Given the description of an element on the screen output the (x, y) to click on. 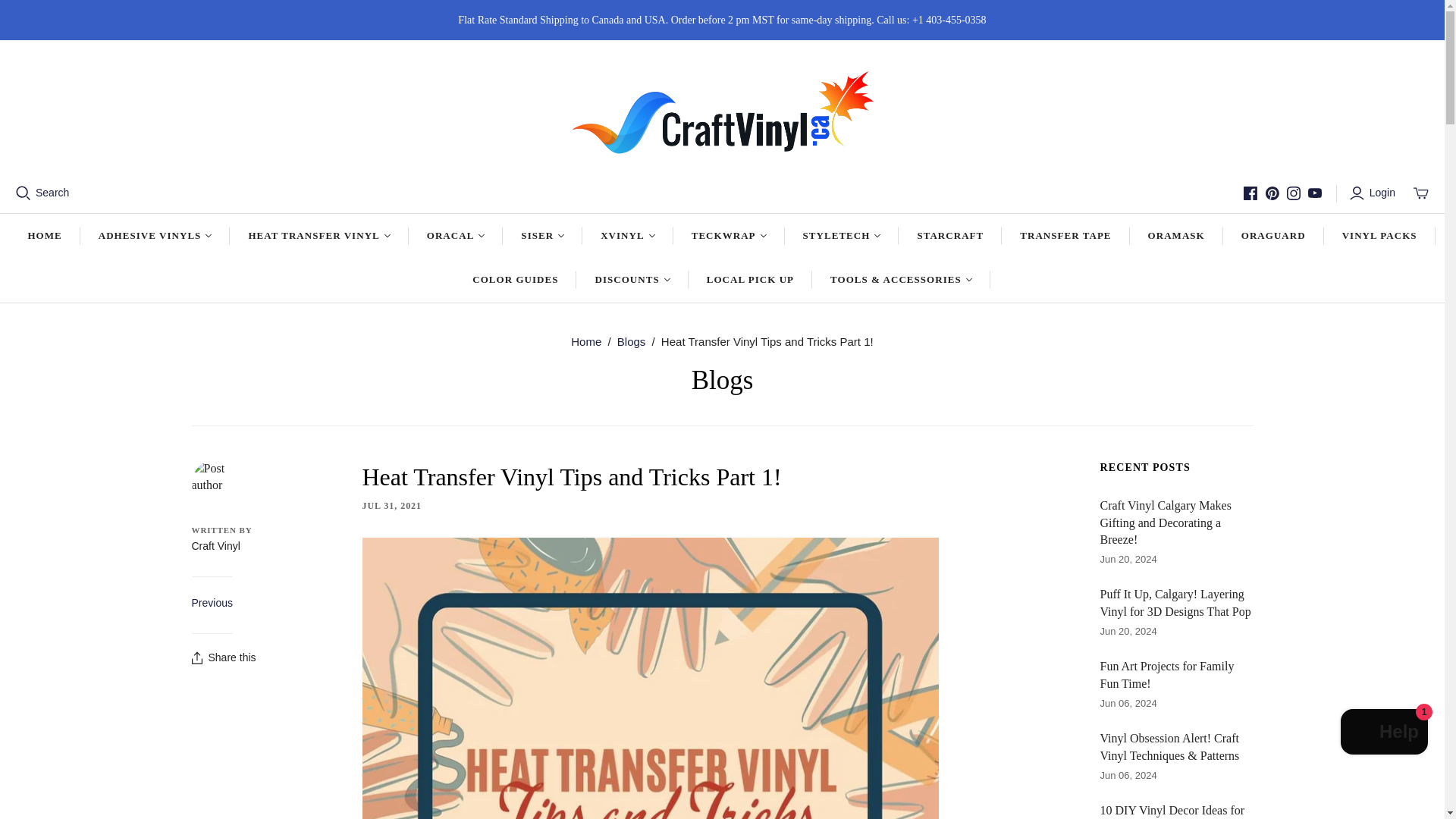
Shopify online store chat (1384, 733)
HOME (44, 235)
Login (1374, 193)
